Given the description of an element on the screen output the (x, y) to click on. 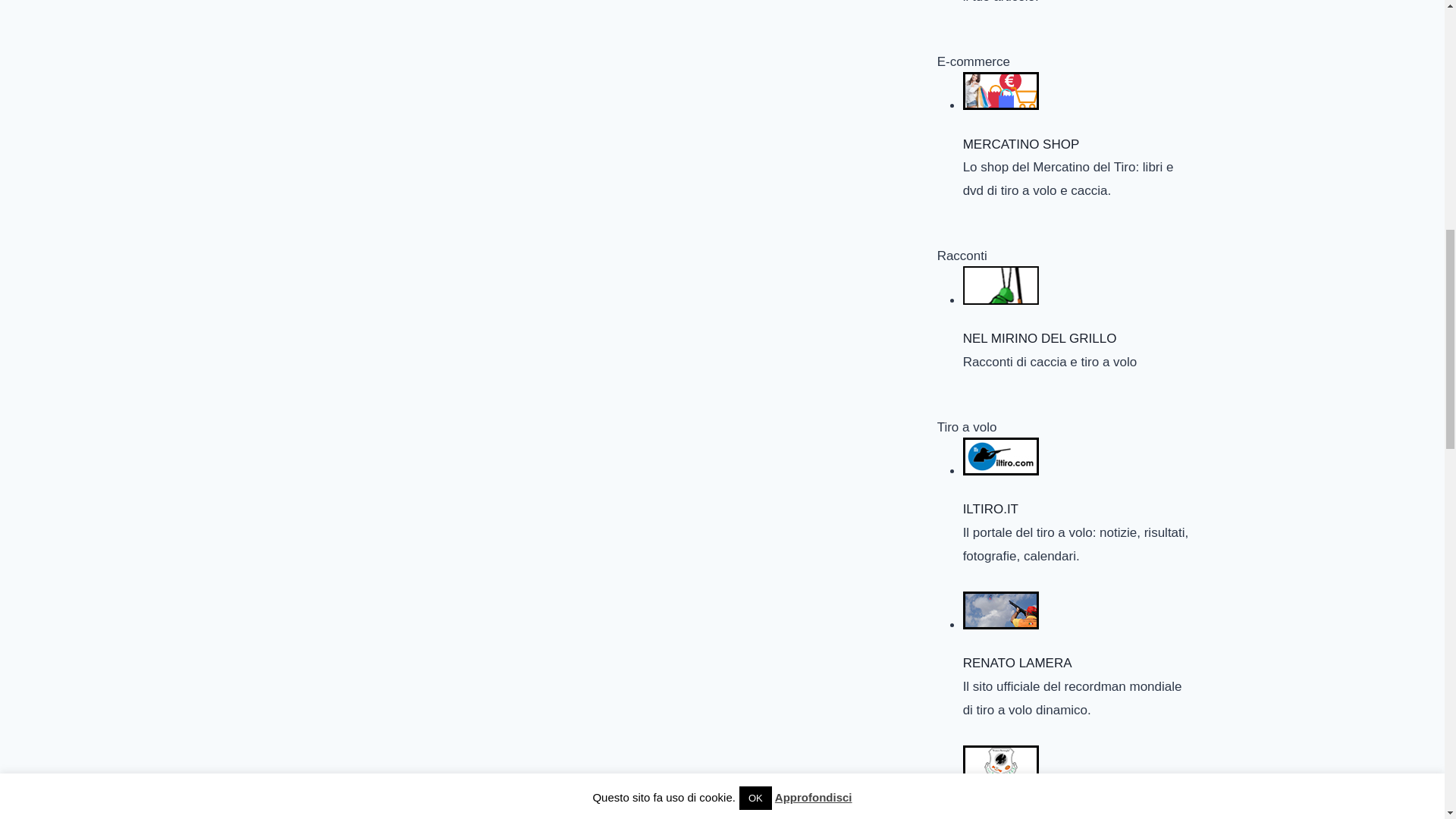
MERCATINO SHOP (1000, 90)
NEL MIRINO DEL GRILLO (1077, 294)
MERCATINO SHOP (1077, 99)
